Given the description of an element on the screen output the (x, y) to click on. 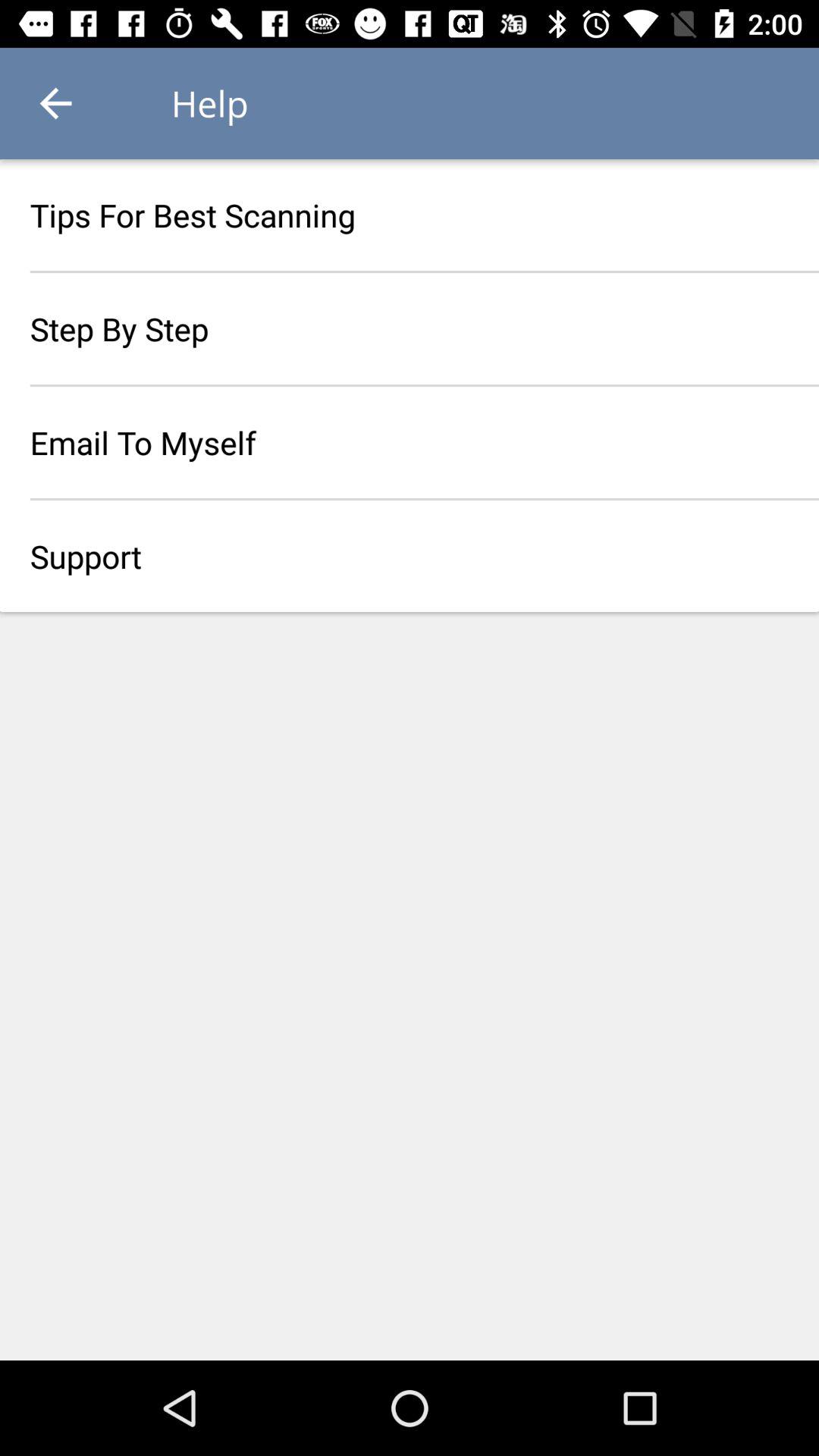
jump to tips for best (409, 214)
